Given the description of an element on the screen output the (x, y) to click on. 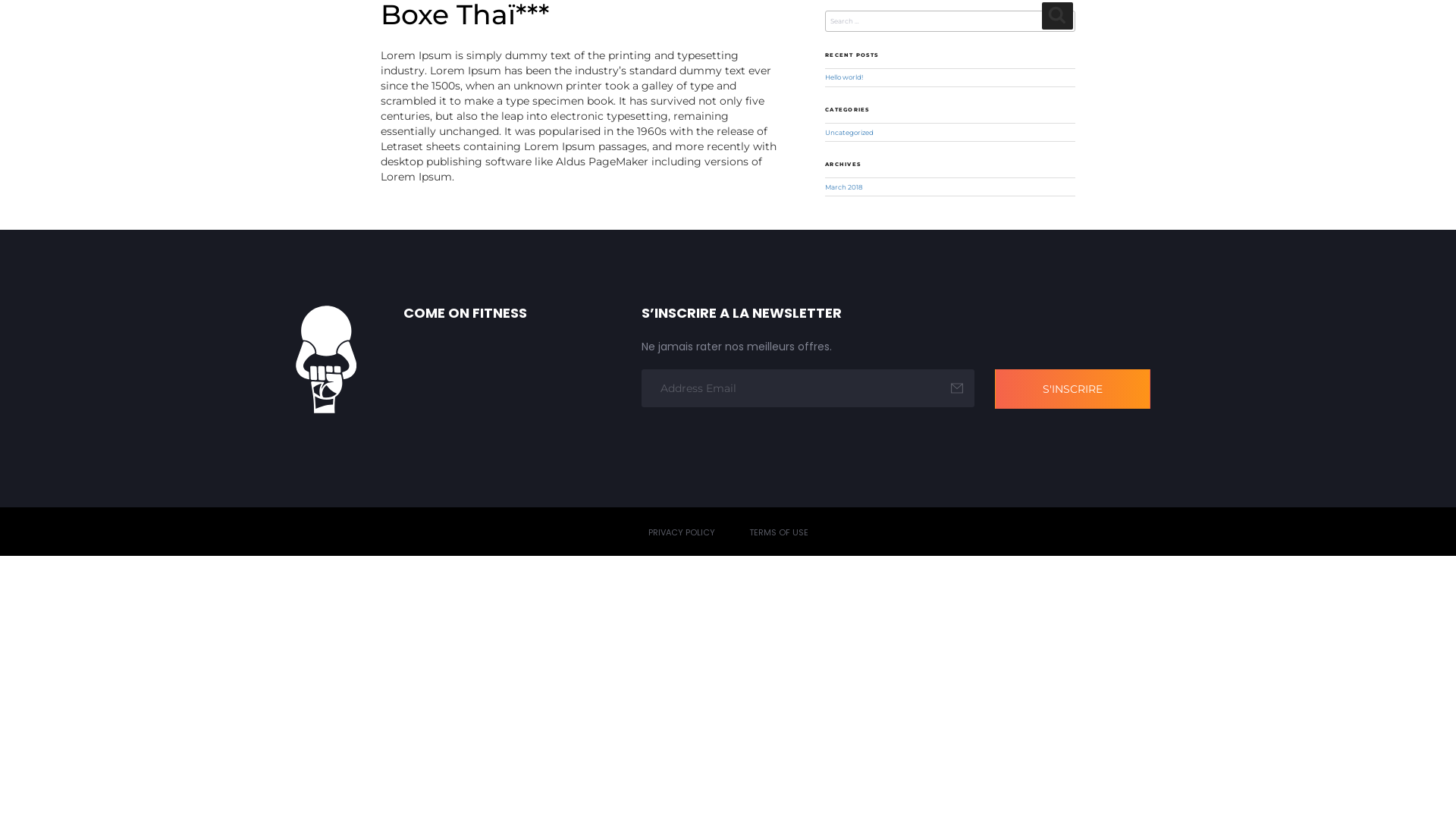
NOS COURS Element type: text (716, 40)
Uncategorized Element type: text (849, 132)
TERMS OF USE Element type: text (778, 533)
PRIVACY POLICY Element type: text (680, 533)
PLANNING Element type: text (795, 40)
Hello world! Element type: text (843, 77)
POURQUOI NOUS CHOISIR ? Element type: text (1002, 40)
NOS OFFRES Element type: text (876, 40)
S'INSCRIRE Element type: text (1072, 388)
March 2018 Element type: text (843, 187)
HOME Element type: text (523, 40)
Search Element type: text (1057, 15)
